Given the description of an element on the screen output the (x, y) to click on. 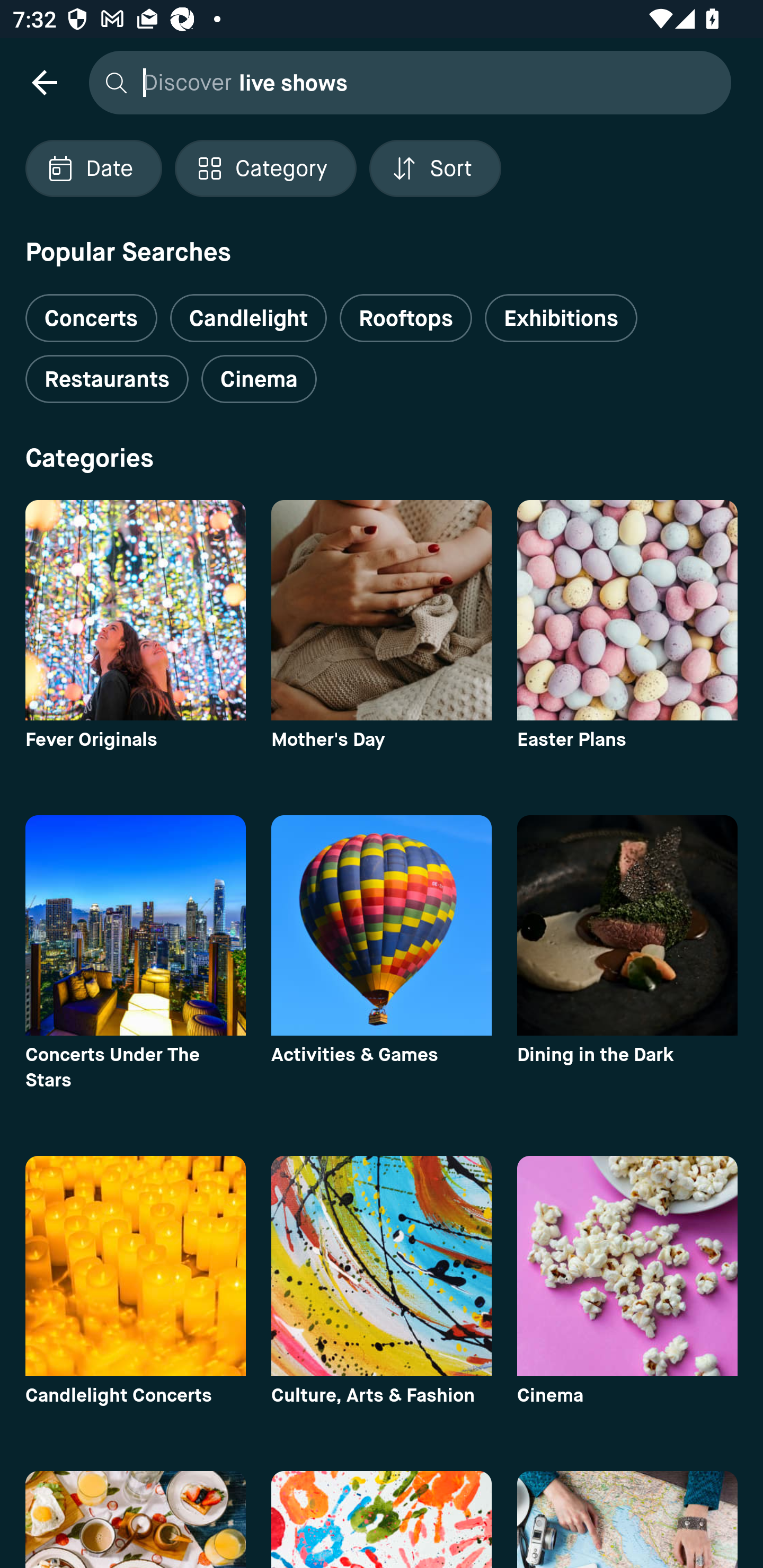
navigation icon (44, 81)
Discover live shows (405, 81)
Localized description Date (93, 168)
Localized description Category (265, 168)
Localized description Sort (435, 168)
Concerts (91, 310)
Candlelight (248, 317)
Rooftops (405, 317)
Exhibitions (560, 317)
Restaurants (106, 379)
Cinema (258, 379)
category image (135, 609)
category image (381, 609)
category image (627, 609)
category image (135, 924)
category image (381, 924)
category image (627, 924)
category image (135, 1265)
category image (381, 1265)
category image (627, 1265)
